Given the description of an element on the screen output the (x, y) to click on. 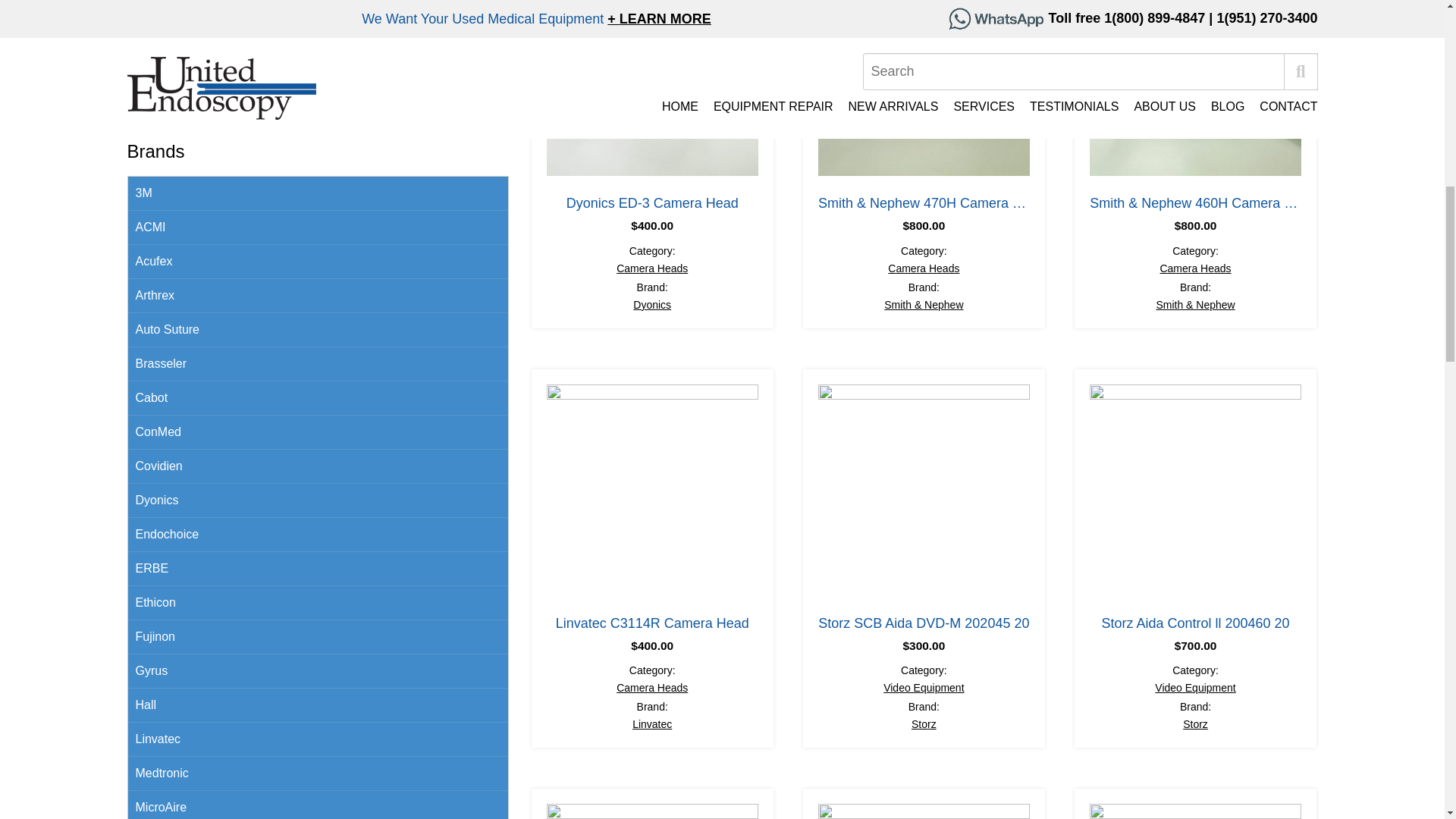
Go to Brasseler (317, 364)
Go to 3M (317, 193)
Go to Endochoice (317, 534)
Dyonics (652, 304)
Go to Dyonics (317, 500)
Go to Acufex (317, 261)
Go to ACMI (317, 227)
Go to Covidien (317, 466)
Go to Ethicon (317, 602)
Camera Heads (651, 268)
Go to ERBE (317, 569)
Go to Cabot (317, 398)
Go to Arthrex (317, 295)
Go to Fujinon (317, 636)
Go to ConMed (317, 432)
